Given the description of an element on the screen output the (x, y) to click on. 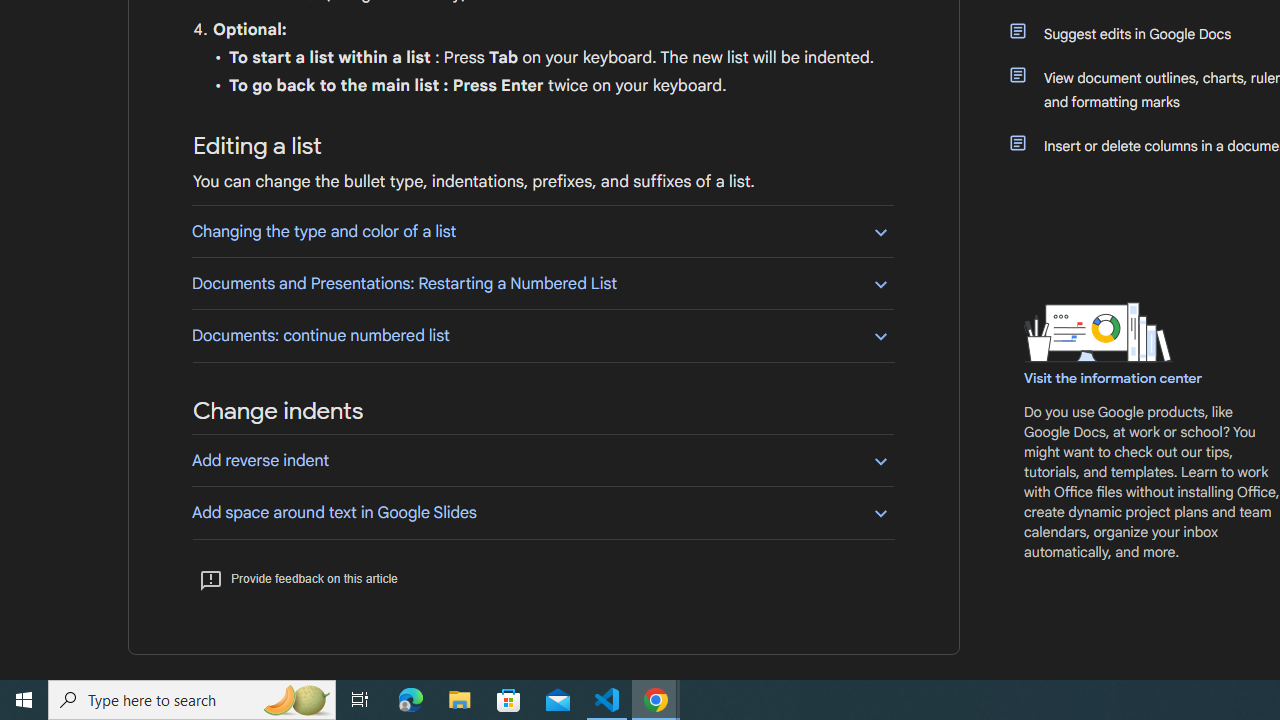
Changing the type and color of a list (542, 231)
Documents and Presentations: Restarting a Numbered List (542, 283)
Visit the information center (1113, 378)
Documents: continue numbered list (542, 335)
Add reverse indent (542, 460)
Provide feedback on this article (298, 578)
Add space around text in Google Slides (542, 512)
